Given the description of an element on the screen output the (x, y) to click on. 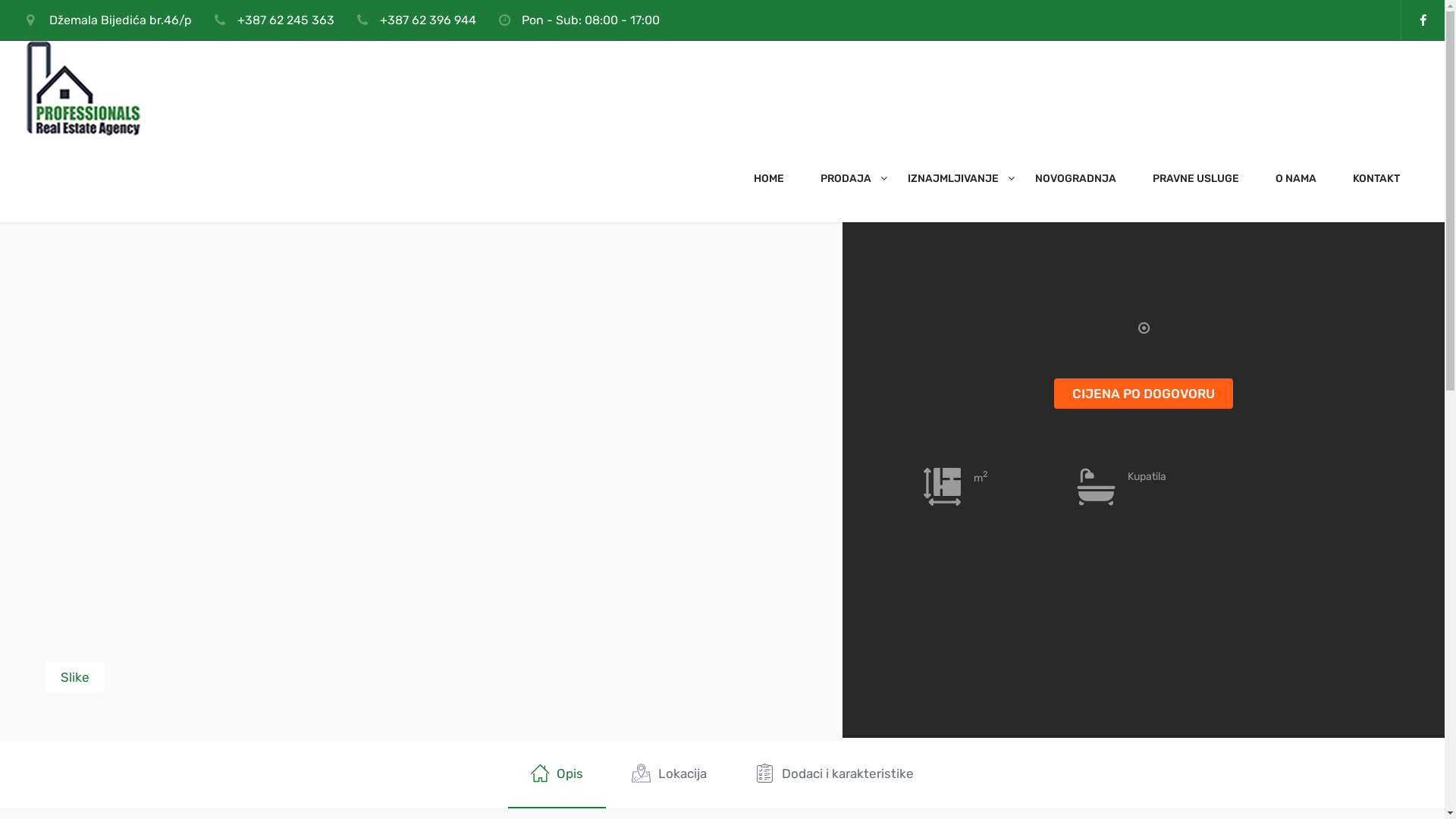
KONTAKT Element type: text (1376, 178)
+387 62 245 363 Element type: text (285, 19)
HOME Element type: text (768, 178)
Opis Element type: text (557, 774)
IZNAJMLJIVANJE Element type: text (952, 178)
PRODAJA Element type: text (845, 178)
NOVOGRADNJA Element type: text (1075, 178)
PRAVNE USLUGE Element type: text (1195, 178)
O NAMA Element type: text (1295, 178)
Slike Element type: text (74, 677)
Dodaci i karakteristike Element type: text (834, 774)
Lokacija Element type: text (668, 774)
+387 62 396 944 Element type: text (427, 19)
